Given the description of an element on the screen output the (x, y) to click on. 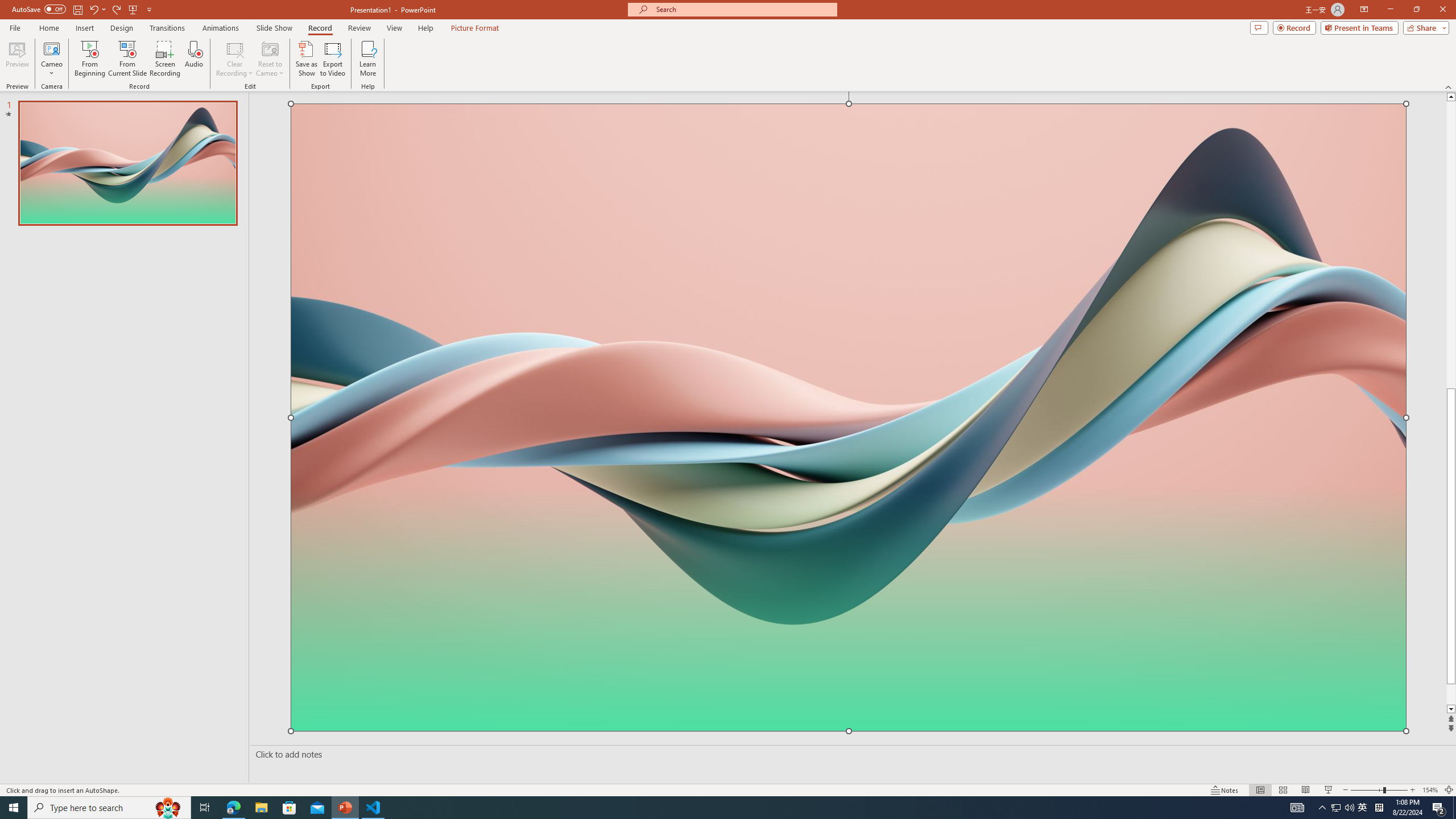
Slide Notes (849, 754)
Picture Format (475, 28)
